Given the description of an element on the screen output the (x, y) to click on. 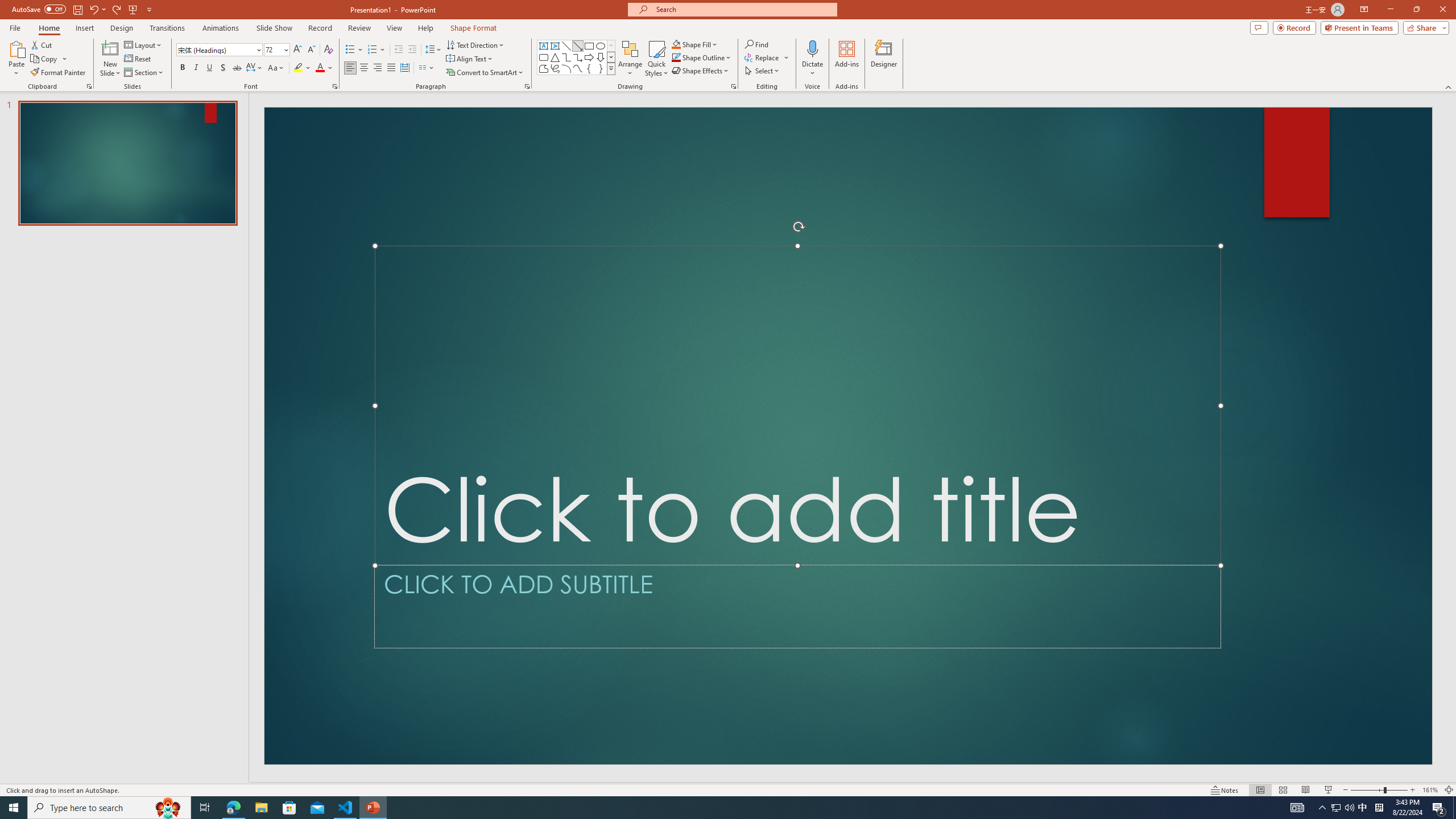
Clear Formatting (327, 49)
Font... (334, 85)
